Given the description of an element on the screen output the (x, y) to click on. 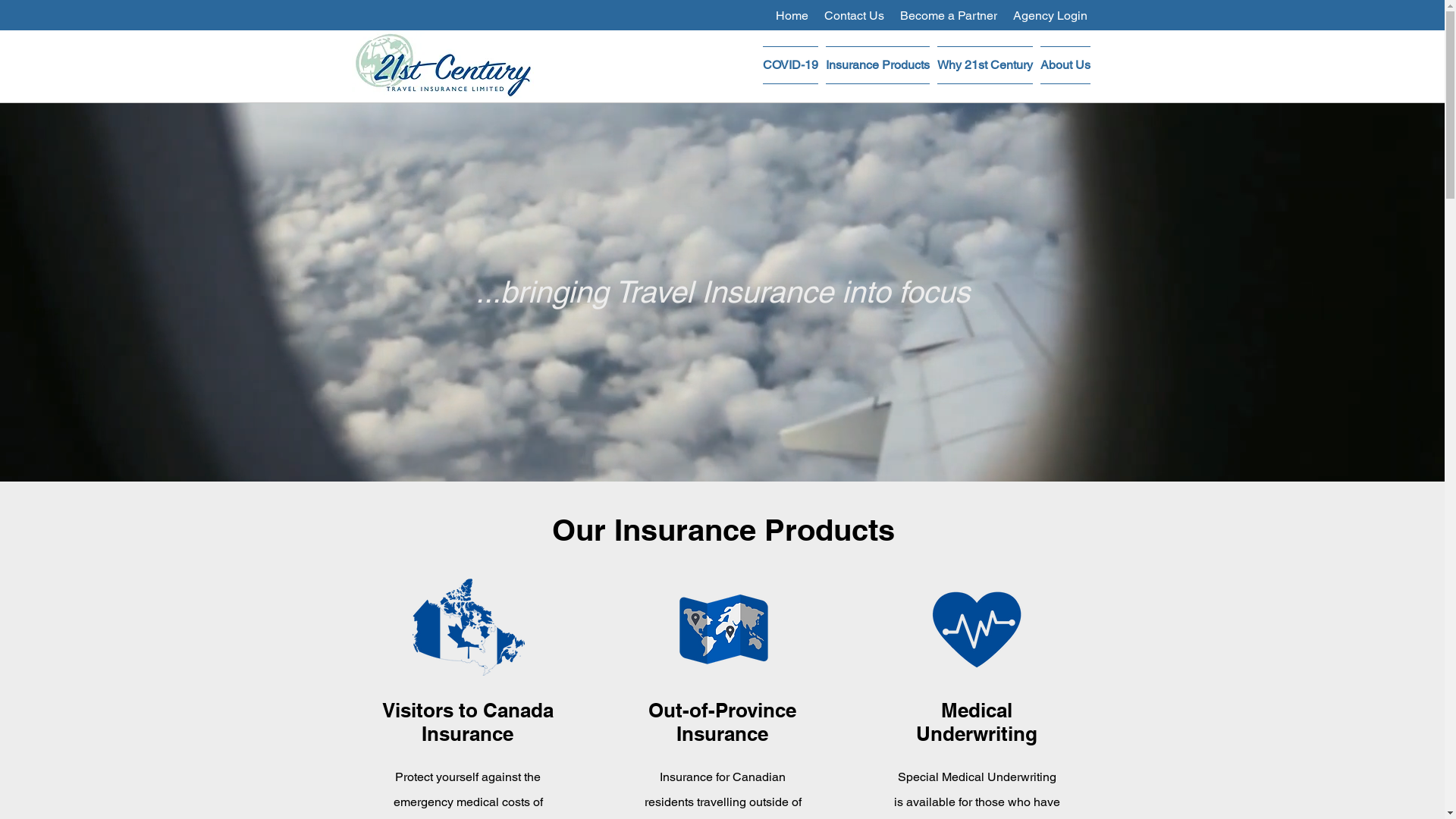
Become a Partner Element type: text (947, 14)
Contact Us Element type: text (854, 14)
Insurance Products Element type: text (877, 65)
Home Element type: text (791, 14)
About Us Element type: text (1062, 65)
Agency Login Element type: text (1049, 14)
Why 21st Century Element type: text (983, 65)
COVID-19 Element type: text (789, 65)
